Given the description of an element on the screen output the (x, y) to click on. 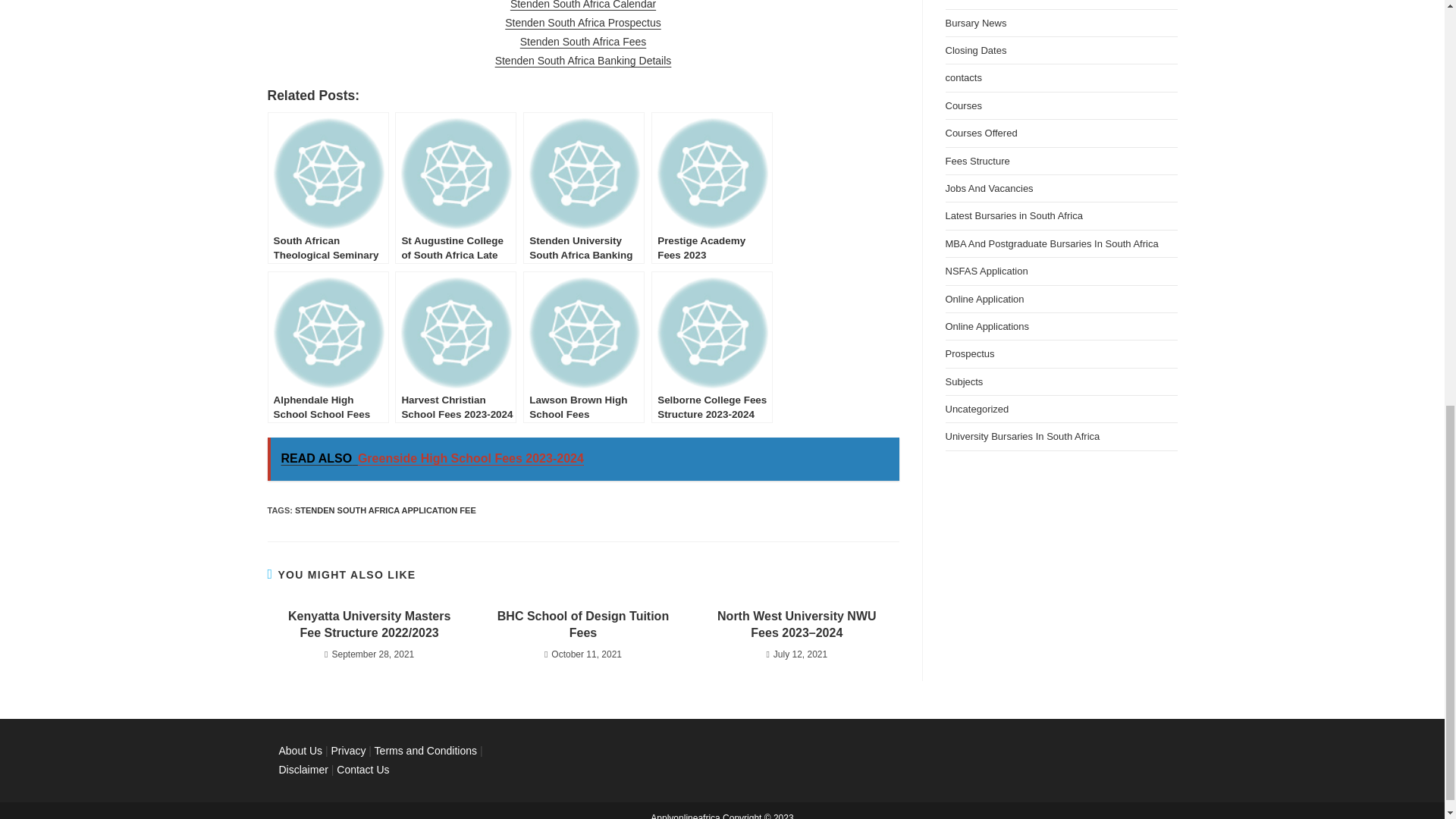
Stenden South Africa Prospectus (583, 22)
Stenden South Africa Banking Details (583, 60)
Stenden South Africa Calendar (583, 4)
Stenden South Africa Fees (582, 41)
